Given the description of an element on the screen output the (x, y) to click on. 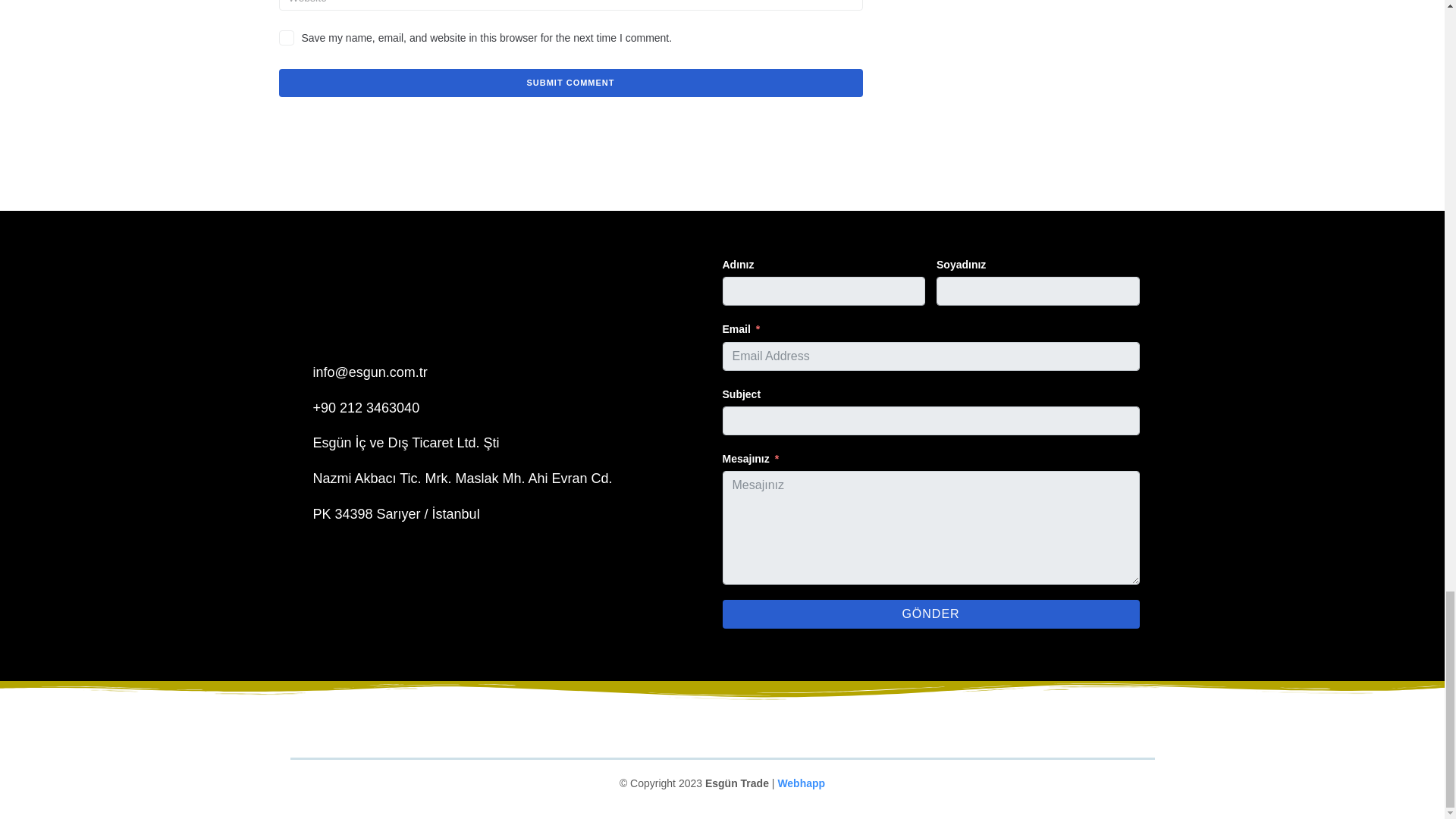
Submit Comment (571, 82)
Submit Comment (571, 82)
